Given the description of an element on the screen output the (x, y) to click on. 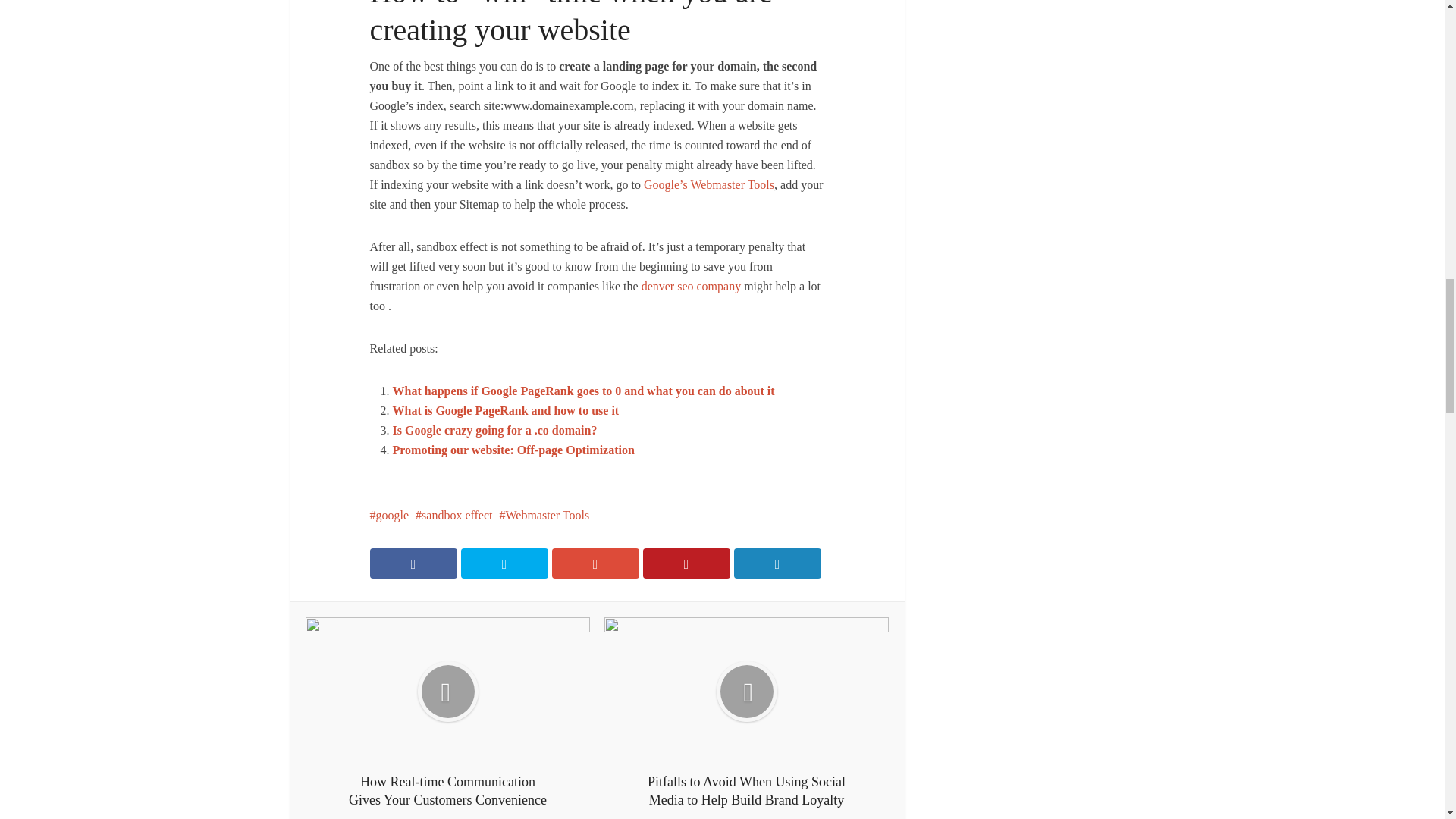
Promoting our website: Off-page Optimization (513, 449)
denver seo company (691, 286)
What is Google PageRank and how to use it (506, 410)
sandbox effect (453, 514)
Promoting our website: Off-page Optimization (513, 449)
What is Google PageRank and how to use it (506, 410)
How Real-time Communication Gives Your Customers Convenience (447, 713)
Is Google crazy going for a .co domain? (494, 430)
Webmaster Tools (544, 514)
Is Google crazy going for a .co domain? (494, 430)
google (389, 514)
